Given the description of an element on the screen output the (x, y) to click on. 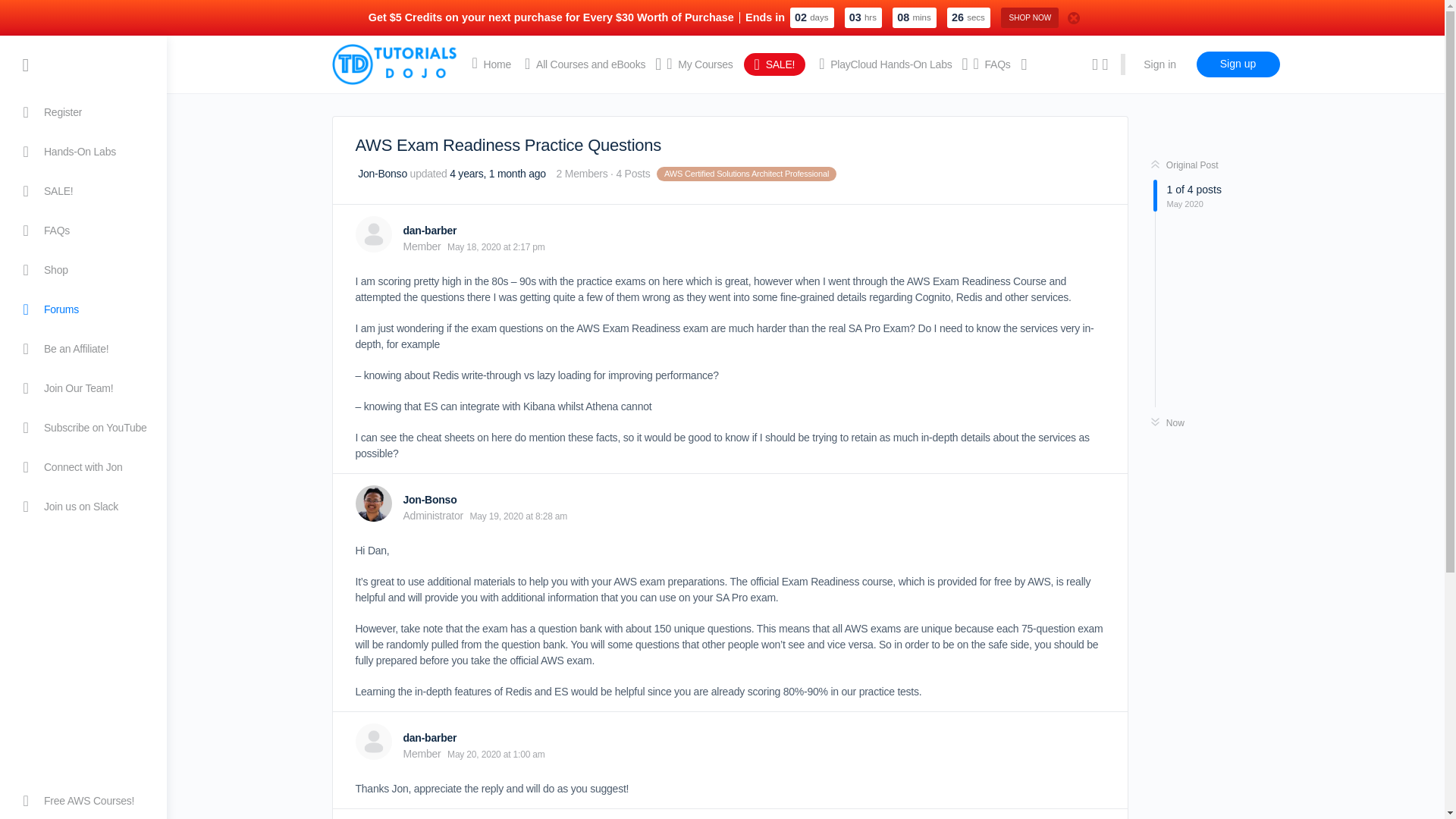
Reply To: AWS Exam Readiness Practice Questions (497, 173)
Forums (83, 309)
Hands-On Labs (83, 151)
Register (83, 112)
View dan-barber's profile (430, 737)
View Jon-Bonso's profile (430, 499)
Be an Affiliate! (83, 348)
View Jon-Bonso's profile (380, 173)
Join us on Slack (83, 506)
SALE! (83, 190)
Free AWS Courses! (83, 800)
Connect with Jon (83, 466)
Shop (83, 269)
Join Our Team! (83, 388)
View dan-barber's profile (430, 230)
